Given the description of an element on the screen output the (x, y) to click on. 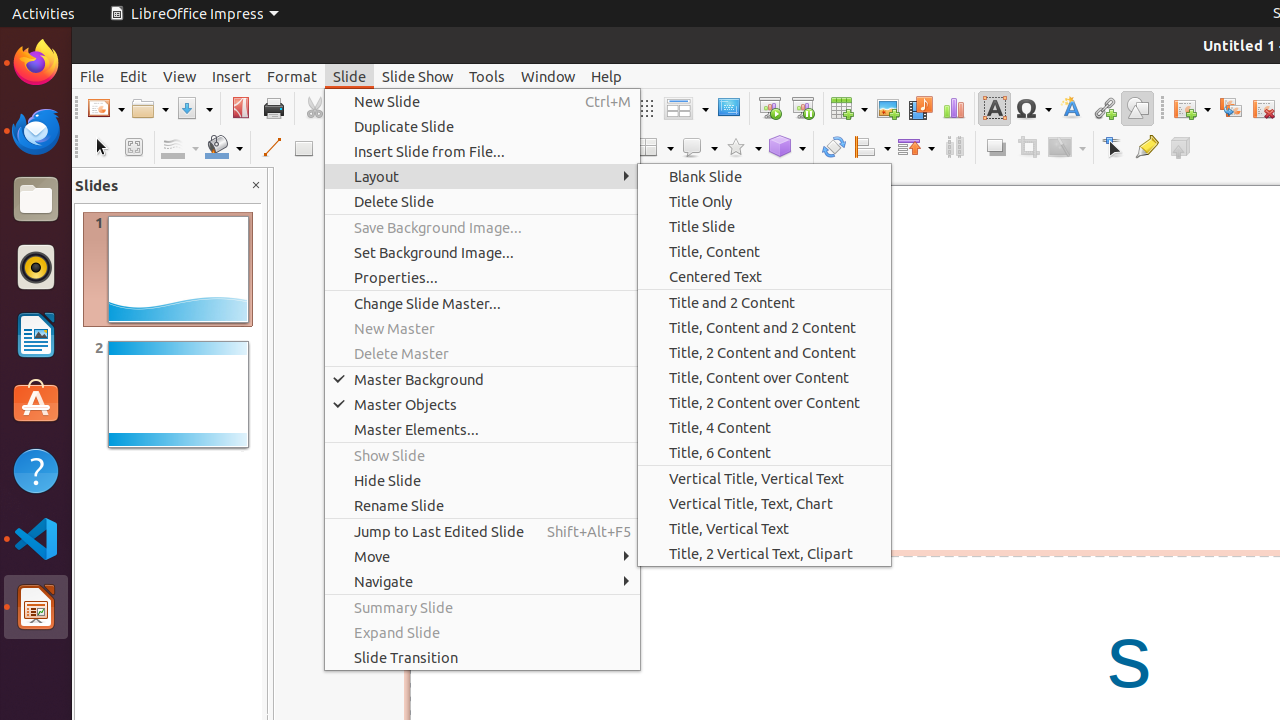
Tools Element type: menu (487, 76)
Vertical Title, Text, Chart Element type: menu-item (764, 503)
